Given the description of an element on the screen output the (x, y) to click on. 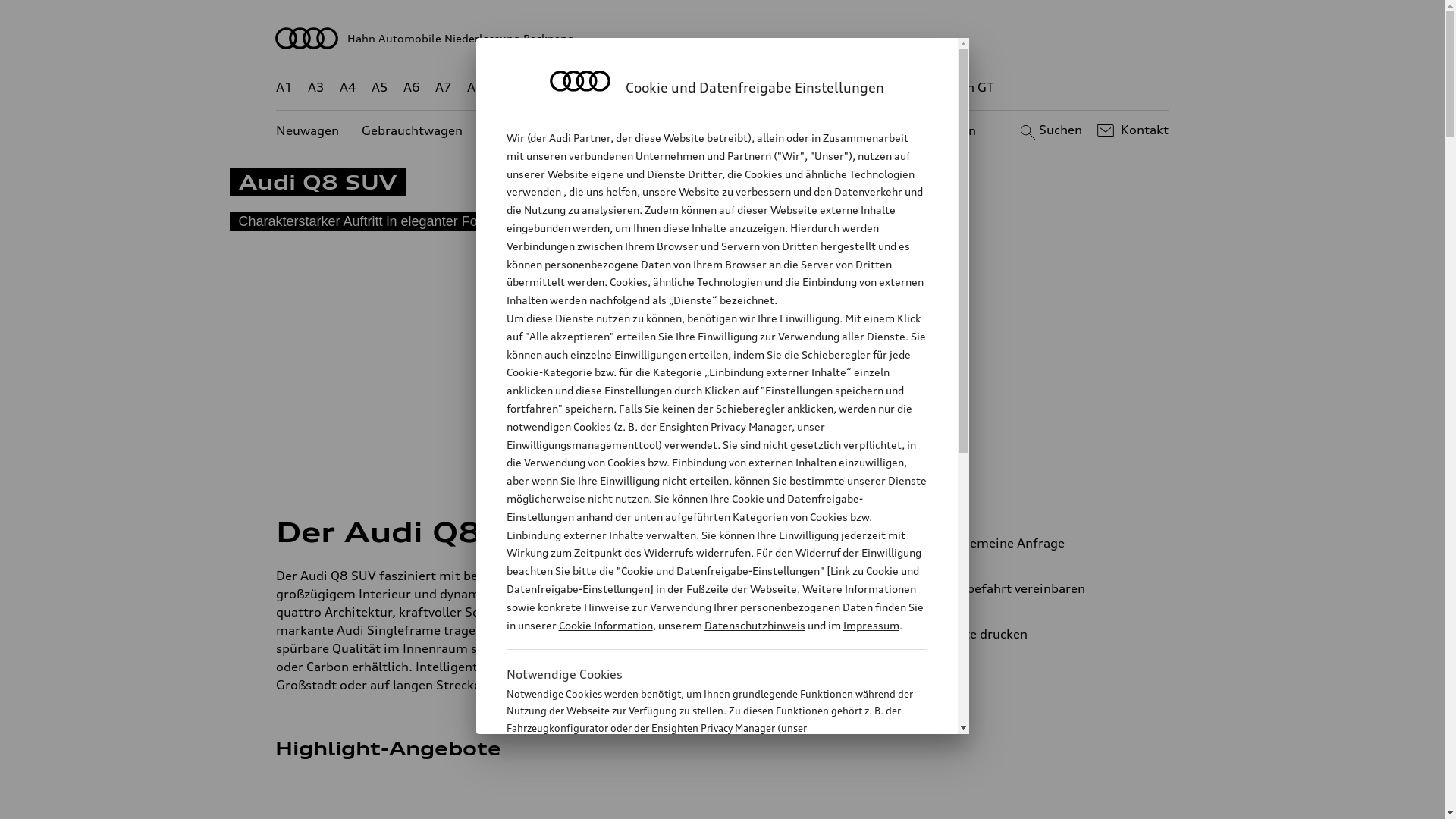
Q2 Element type: text (507, 87)
Kundenservice Element type: text (730, 130)
Audi Partner Element type: text (579, 137)
Allgemeine Anfrage Element type: text (1038, 542)
Seite drucken Element type: text (1044, 633)
RS Element type: text (861, 87)
Neuwagen Element type: text (307, 130)
Cookie Information Element type: text (605, 624)
Probefahrt vereinbaren Element type: text (1038, 588)
Suchen Element type: text (1049, 130)
Datenschutzhinweis Element type: text (753, 624)
Q8 e-tron Element type: text (763, 87)
Q3 Element type: text (540, 87)
Kontakt Element type: text (1130, 130)
A7 Element type: text (443, 87)
A8 Element type: text (475, 87)
Q5 Element type: text (645, 87)
e-tron GT Element type: text (965, 87)
Cookie Information Element type: text (700, 802)
A1 Element type: text (284, 87)
g-tron Element type: text (903, 87)
A6 Element type: text (411, 87)
TT Element type: text (814, 87)
Gebrauchtwagen Element type: text (411, 130)
A4 Element type: text (347, 87)
Hahn Automobile Niederlassung Backnang Element type: text (722, 38)
A3 Element type: text (315, 87)
Impressum Element type: text (871, 624)
Q8 Element type: text (710, 87)
A5 Element type: text (379, 87)
Q7 Element type: text (678, 87)
Q4 e-tron Element type: text (592, 87)
Angebote Element type: text (636, 130)
